Given the description of an element on the screen output the (x, y) to click on. 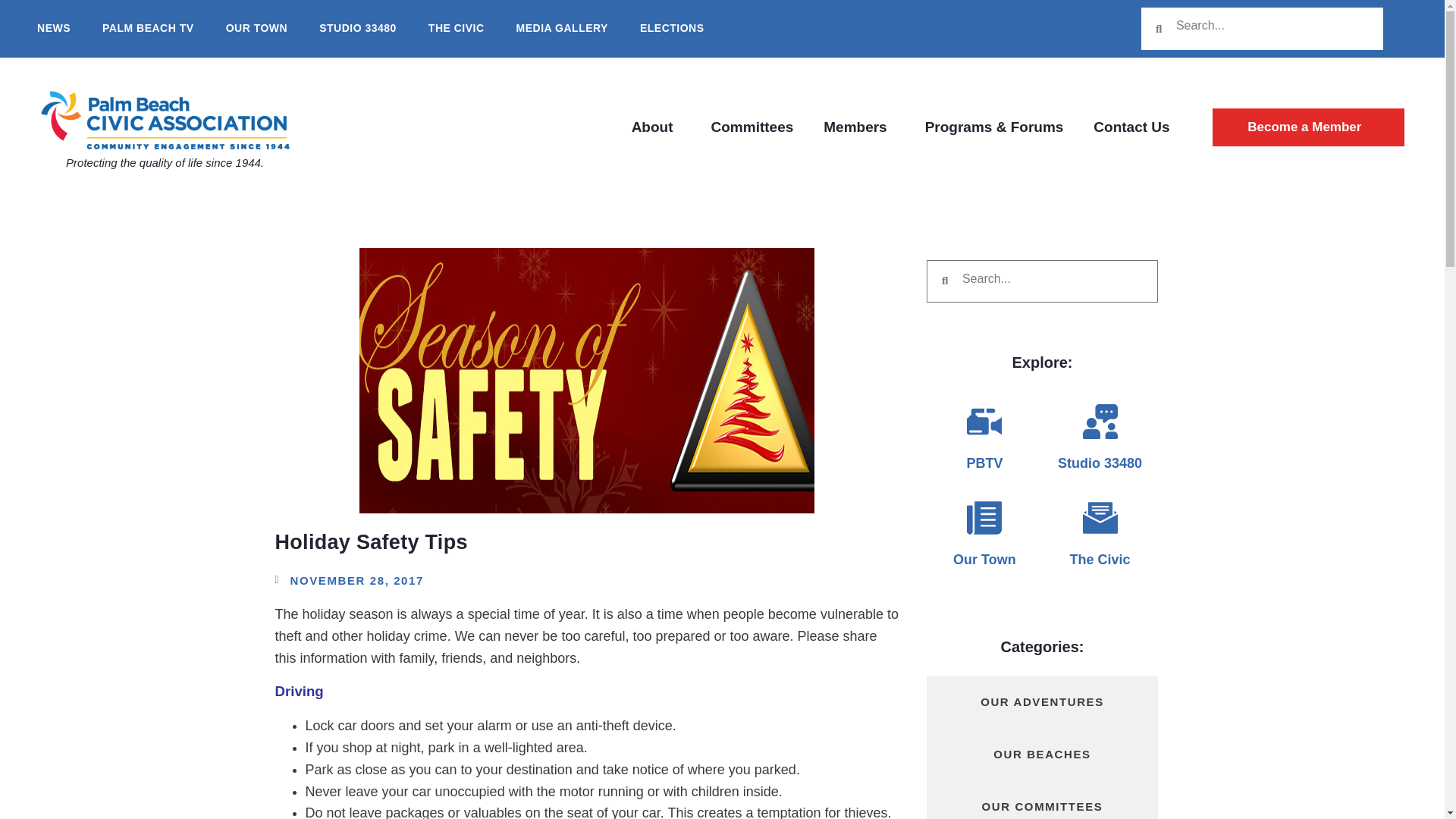
OUR TOWN (256, 28)
ELECTIONS (671, 28)
STUDIO 33480 (358, 28)
NEWS (53, 28)
THE CIVIC (456, 28)
MEDIA GALLERY (561, 28)
PALM BEACH TV (148, 28)
